Given the description of an element on the screen output the (x, y) to click on. 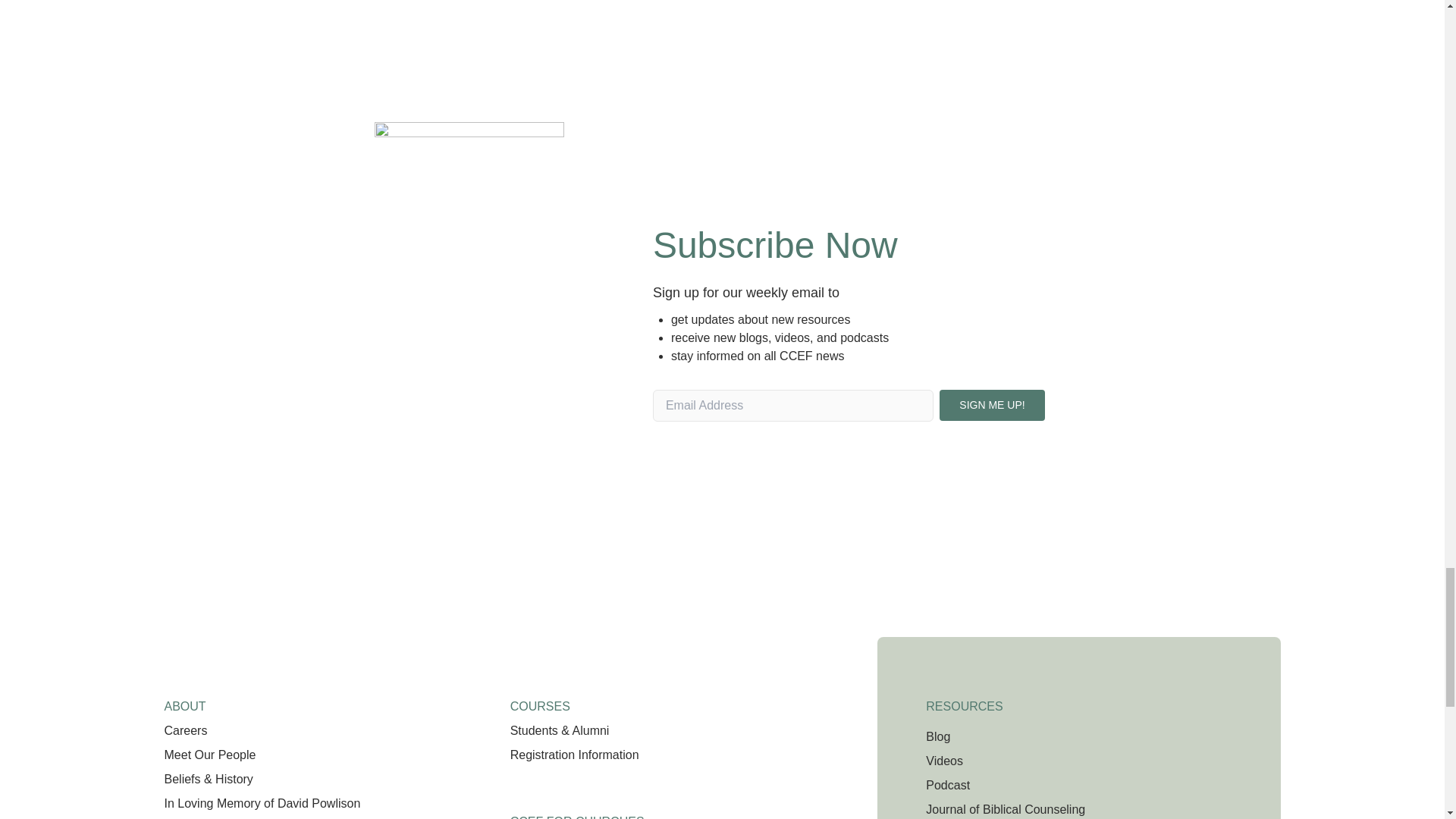
ABOUT (184, 700)
SIGN ME UP! (991, 408)
